Given the description of an element on the screen output the (x, y) to click on. 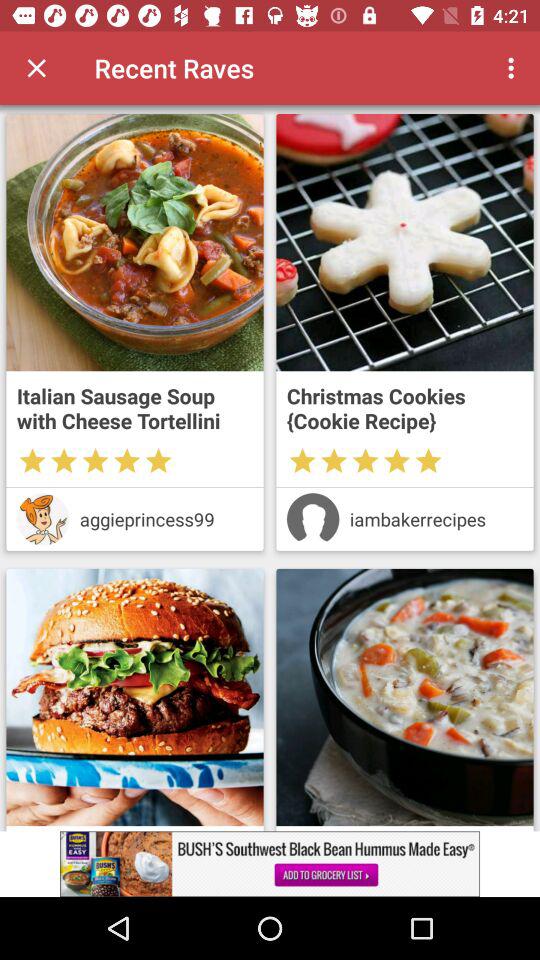
go to food (404, 242)
